Given the description of an element on the screen output the (x, y) to click on. 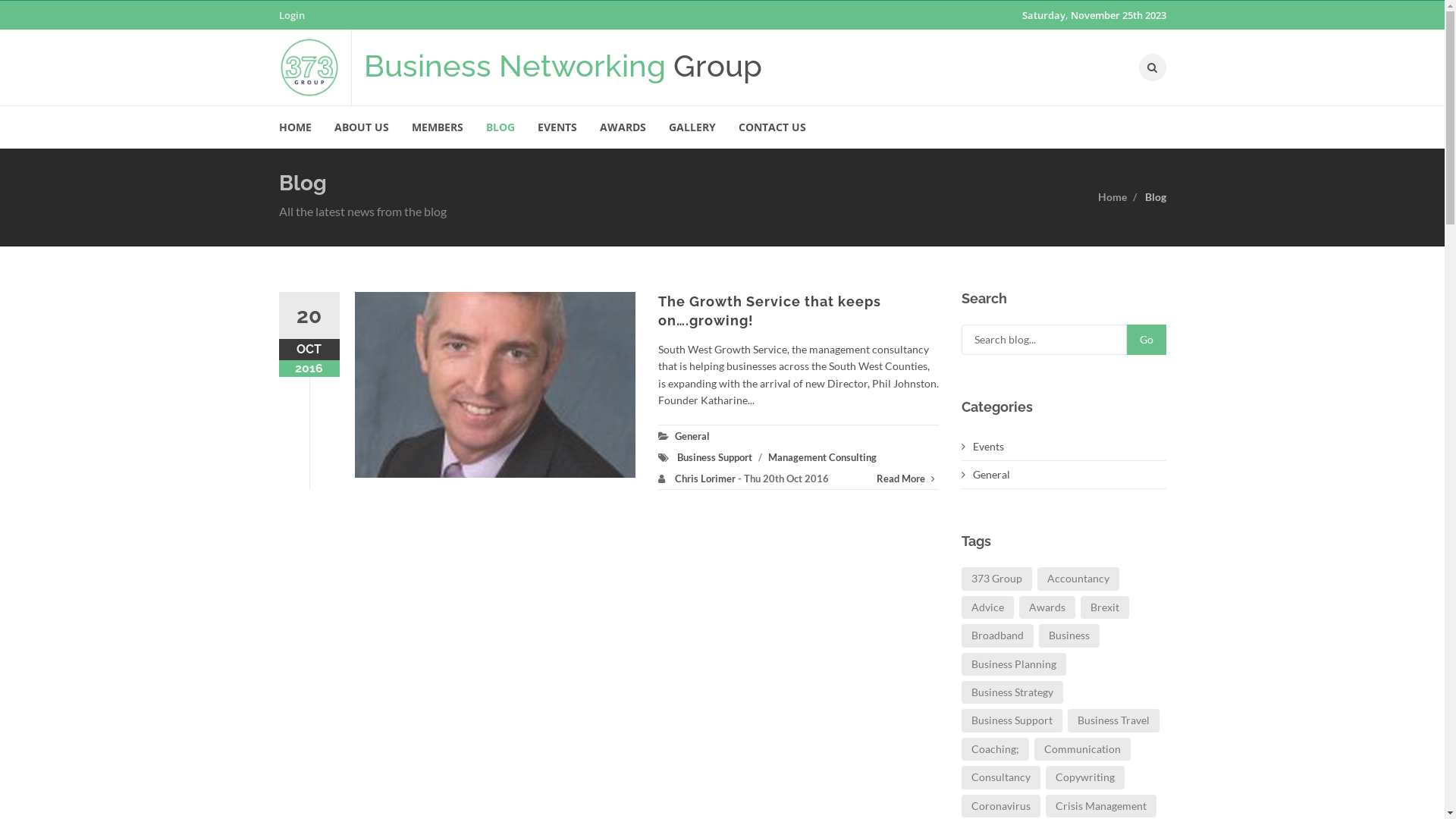
Business Planning Element type: text (1013, 663)
Go Element type: text (1146, 339)
Consultancy Element type: text (1000, 776)
Business Travel Element type: text (1113, 720)
373 Group Element type: text (996, 578)
Awards Element type: text (1047, 607)
BLOG Element type: text (500, 126)
Copywriting Element type: text (1083, 776)
Communication Element type: text (1082, 748)
General Element type: text (985, 473)
GALLERY Element type: text (691, 126)
Crisis Management Element type: text (1099, 805)
Business Support Element type: text (1011, 720)
Broadband Element type: text (997, 635)
Events Element type: text (982, 445)
Brexit Element type: text (1103, 607)
AWARDS Element type: text (622, 126)
CONTACT US Element type: text (771, 126)
Advice Element type: text (987, 607)
HOME Element type: text (301, 126)
EVENTS Element type: text (557, 126)
Coronavirus Element type: text (1000, 805)
Management Consulting Element type: text (821, 457)
Accountancy Element type: text (1078, 578)
Business Strategy Element type: text (1012, 691)
Login Element type: text (291, 14)
373 Group Business Network Element type: hover (315, 67)
ABOUT US Element type: text (361, 126)
MEMBERS Element type: text (437, 126)
Coaching; Element type: text (995, 748)
Business Support Element type: text (713, 457)
Read More Element type: text (907, 478)
General Element type: text (691, 435)
Business Element type: text (1068, 635)
Home Element type: text (1112, 195)
Chris Lorimer Element type: text (704, 478)
